Given the description of an element on the screen output the (x, y) to click on. 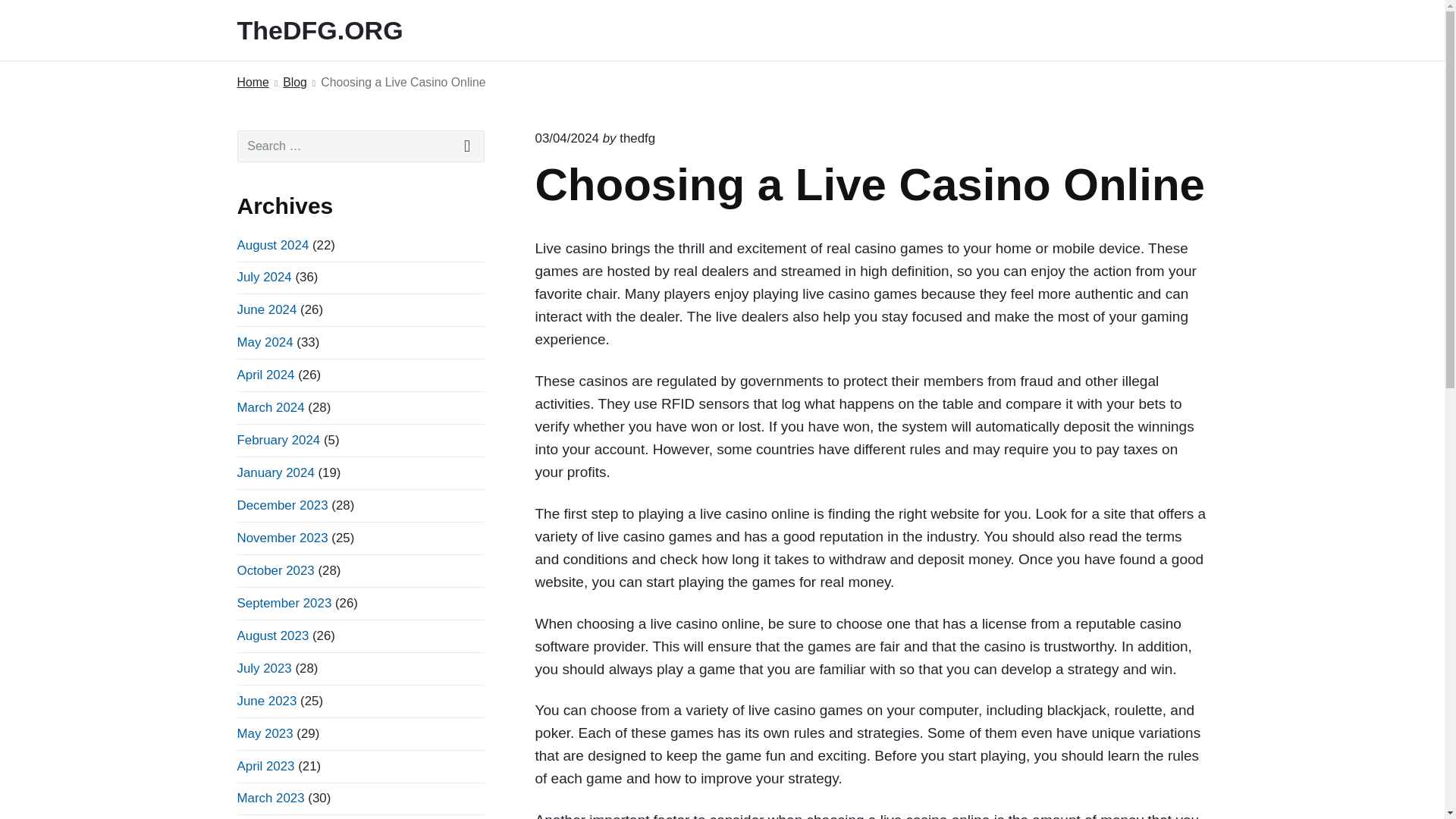
February 2024 (277, 440)
thedfg (637, 138)
May 2023 (263, 733)
SEARCH (466, 146)
April 2024 (264, 374)
August 2023 (271, 635)
TheDFG.ORG (339, 30)
Blog (294, 82)
Home (251, 82)
January 2024 (274, 472)
